Given the description of an element on the screen output the (x, y) to click on. 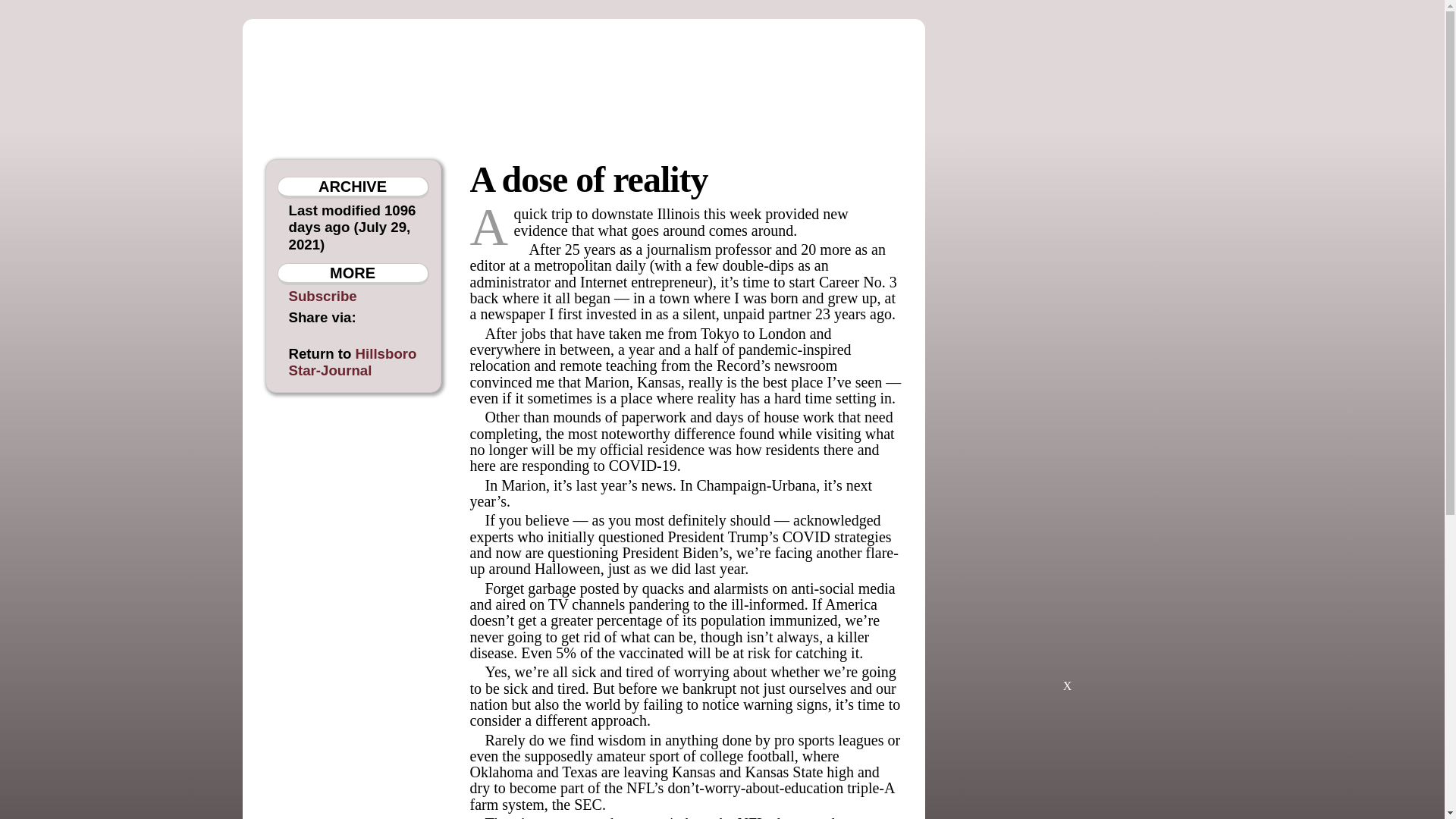
Hillsboro Star-Journal (352, 361)
Subscribe (322, 295)
